Given the description of an element on the screen output the (x, y) to click on. 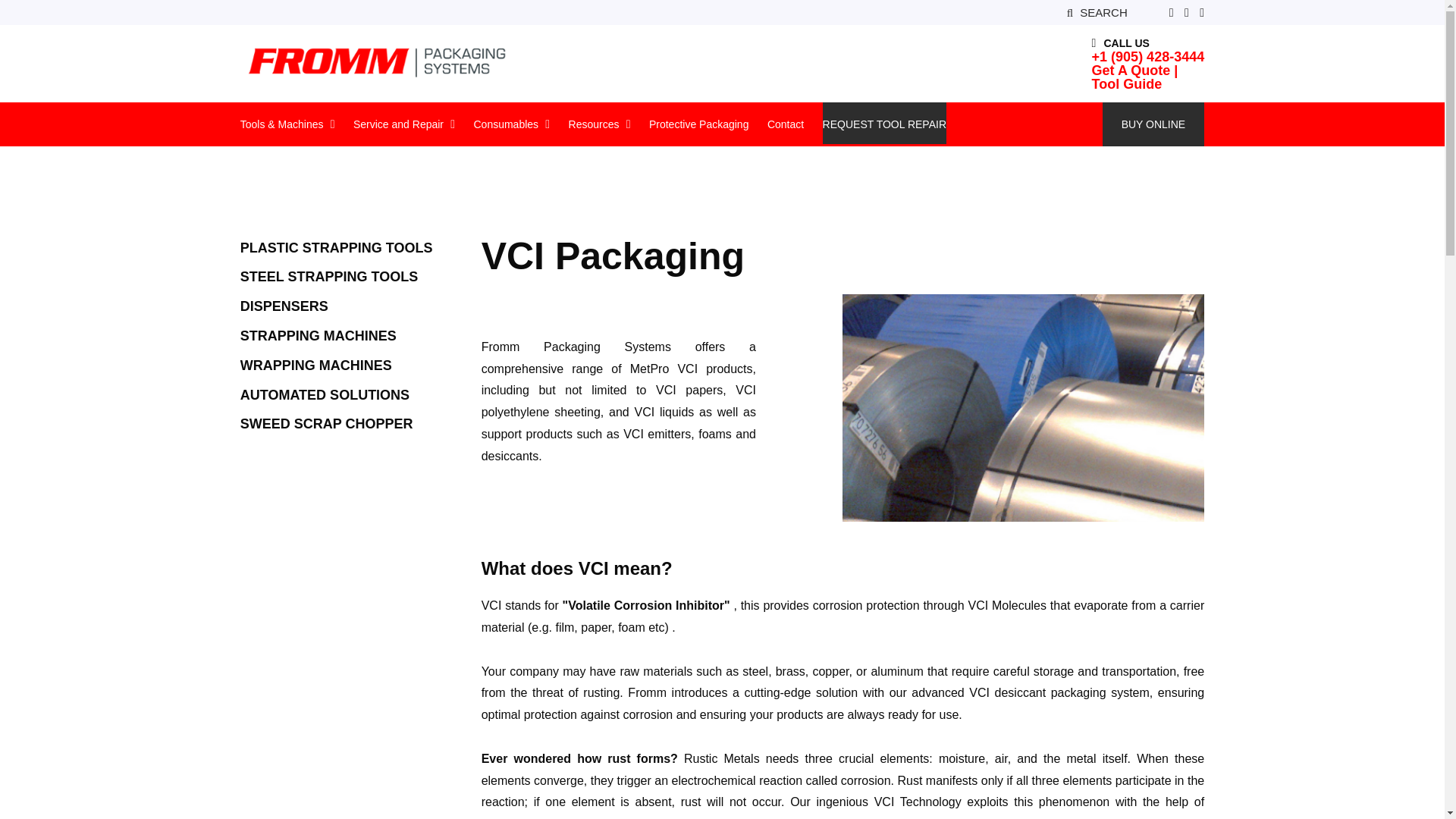
REQUEST TOOL REPAIR (884, 123)
Consumables (505, 123)
Tool Guide (1148, 83)
SEARCH (1096, 12)
BUY ONLINE (1153, 124)
Protective Packaging (699, 123)
PLASTIC STRAPPING TOOLS (336, 246)
Resources (594, 123)
Service and Repair (398, 123)
